Given the description of an element on the screen output the (x, y) to click on. 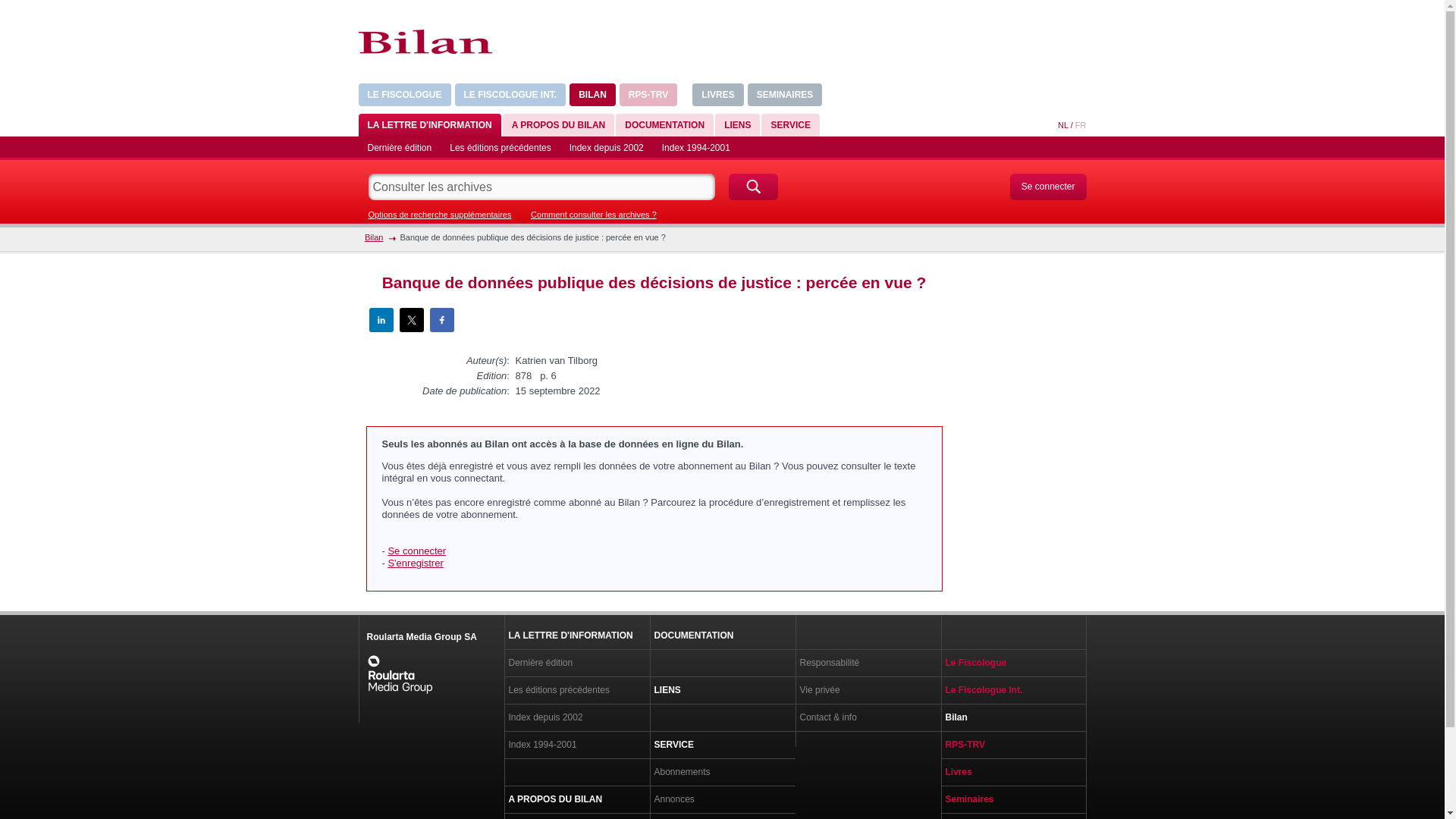
SEMINAIRES Element type: text (784, 94)
Index depuis 2002 Element type: text (606, 147)
LA LETTRE D'INFORMATION Element type: text (428, 124)
LE FISCOLOGUE INT. Element type: text (510, 94)
Livres Element type: text (1012, 771)
A PROPOS DU BILAN Element type: text (558, 124)
RPS-TRV Element type: text (1012, 744)
Annonces Element type: text (721, 799)
Bilan Element type: text (1012, 717)
Index 1994-2001 Element type: text (695, 147)
LIENS Element type: text (737, 124)
Index 1994-2001 Element type: text (576, 744)
Le Fiscologue Int. Element type: text (1012, 689)
A PROPOS DU BILAN Element type: text (576, 799)
LIENS Element type: text (721, 689)
Abonnements Element type: text (721, 771)
Se connecter Element type: text (416, 550)
Contact & info Element type: text (867, 717)
SERVICE Element type: text (790, 124)
LIVRES Element type: text (717, 94)
LE FISCOLOGUE Element type: text (403, 94)
LA LETTRE D'INFORMATION Element type: text (576, 635)
Bilan Element type: text (373, 236)
S'enregistrer Element type: text (414, 562)
RPS-TRV Element type: text (648, 94)
Se connecter Element type: text (1048, 186)
FR Element type: text (1080, 124)
Seminaires Element type: text (1012, 799)
SERVICE Element type: text (721, 744)
DOCUMENTATION Element type: text (664, 124)
Le Fiscologue Element type: text (1012, 662)
DOCUMENTATION Element type: text (721, 635)
NL Element type: text (1062, 124)
BILAN Element type: text (592, 94)
Index depuis 2002 Element type: text (576, 717)
Comment consulter les archives ? Element type: text (593, 214)
